Given the description of an element on the screen output the (x, y) to click on. 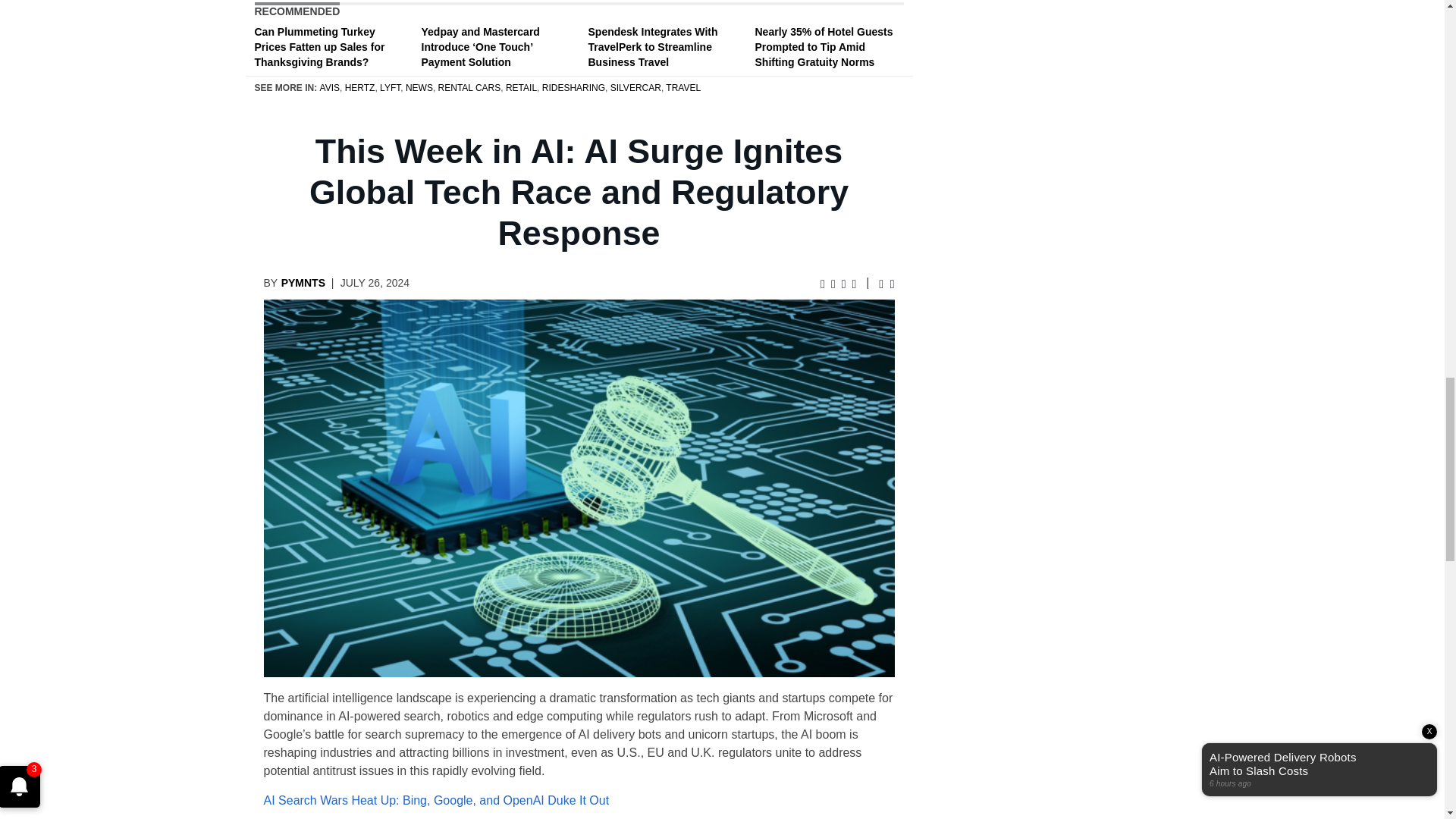
Posts by PYMNTS (302, 282)
